Given the description of an element on the screen output the (x, y) to click on. 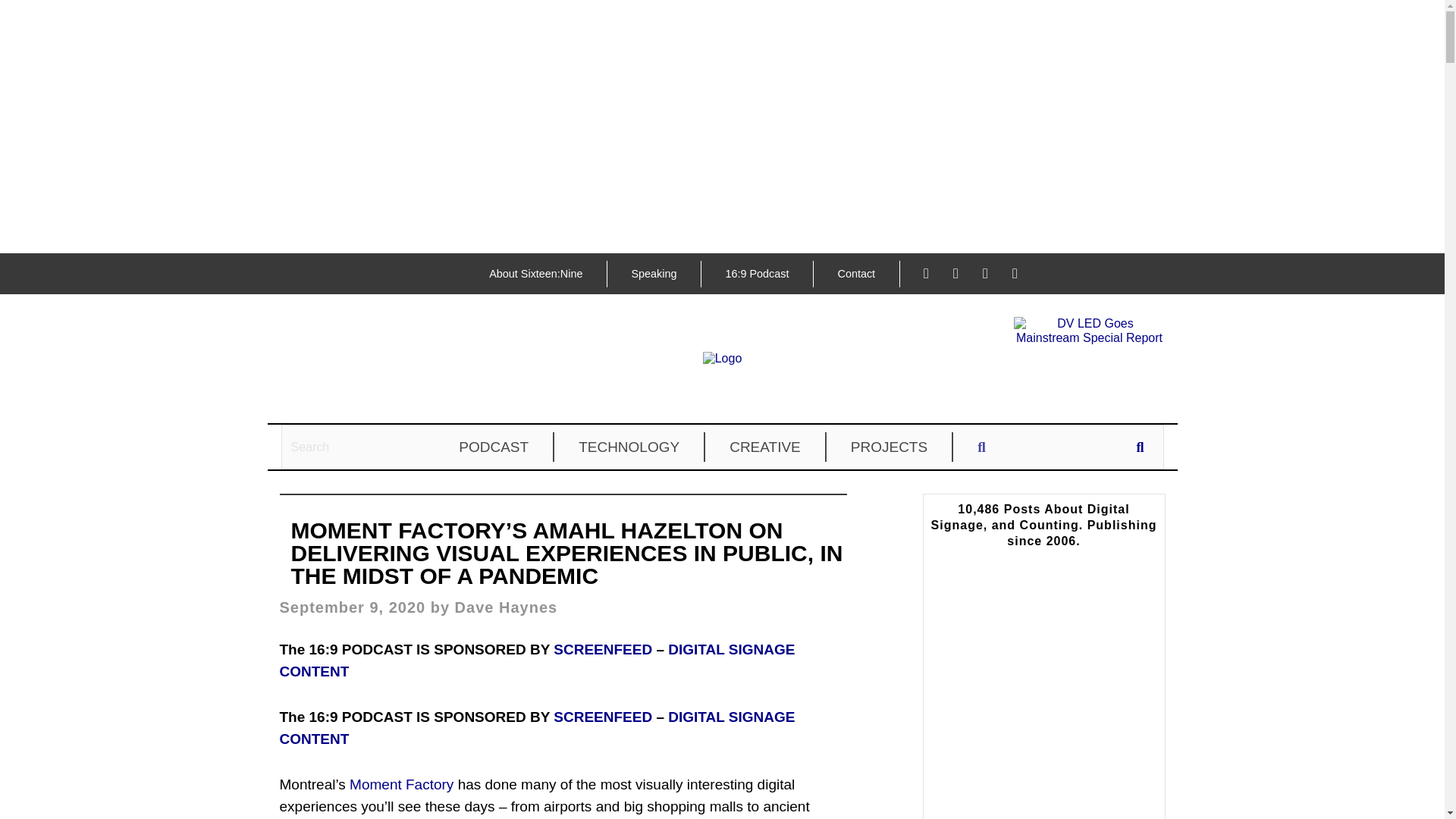
TECHNOLOGY (629, 446)
Contact (855, 273)
Speaking (653, 273)
SCREENFEED (602, 716)
PROJECTS (890, 446)
Moment Factory (400, 784)
PODCAST (493, 446)
DIGITAL SIGNAGE CONTENT (536, 727)
16:9 Podcast (756, 273)
SCREENFEED (602, 649)
About Sixteen:Nine (535, 273)
CREATIVE (765, 446)
DIGITAL SIGNAGE CONTENT (536, 660)
